Given the description of an element on the screen output the (x, y) to click on. 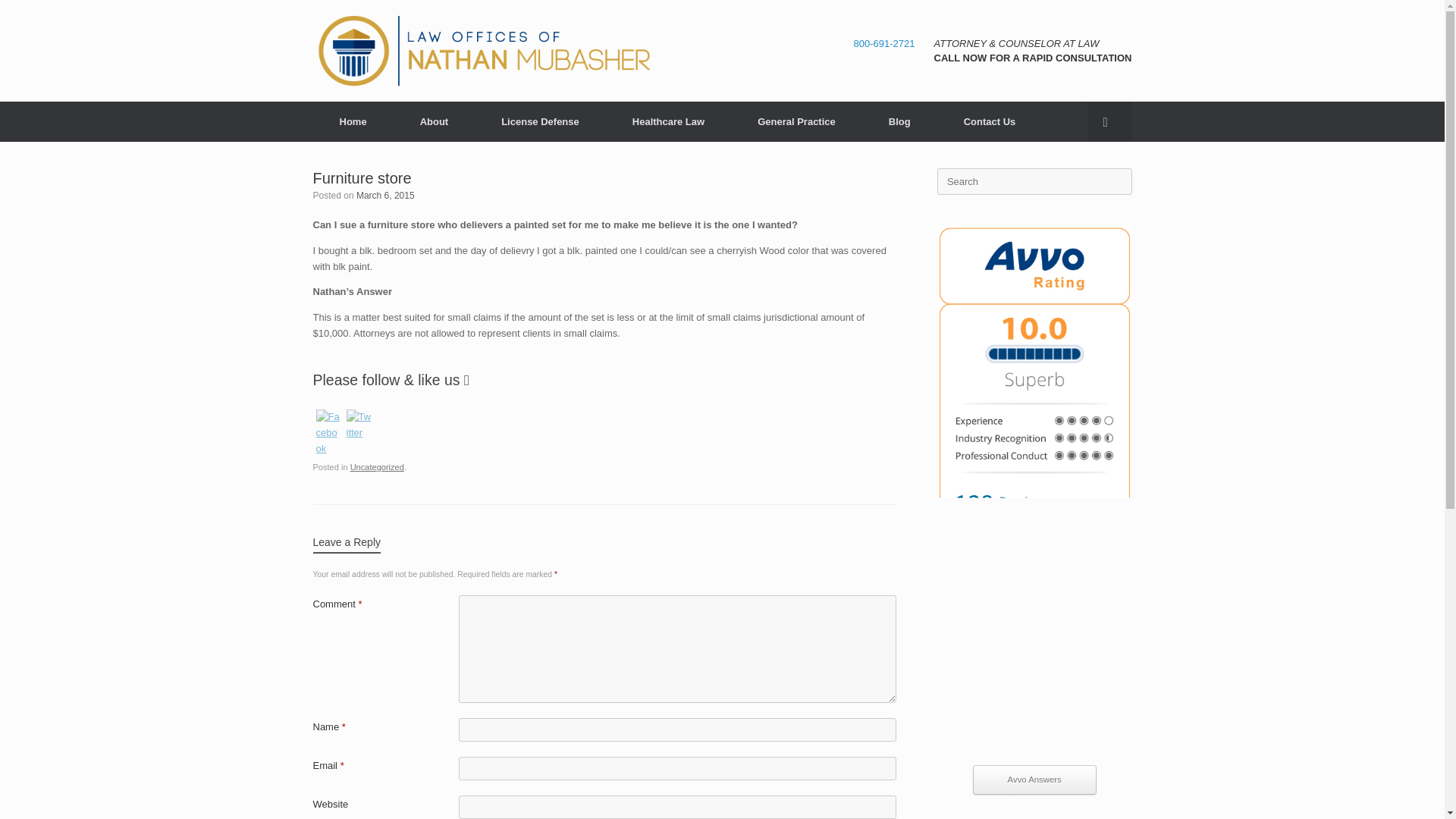
800-691-2721 (884, 42)
Avvo Answers (1034, 779)
Home (353, 121)
Healthcare Law (667, 121)
11:56 pm (385, 195)
License Defense (539, 121)
Law Offices of Nathan Mubasher (484, 50)
Uncategorized (377, 466)
Contact Us (989, 121)
General Practice (795, 121)
